Given the description of an element on the screen output the (x, y) to click on. 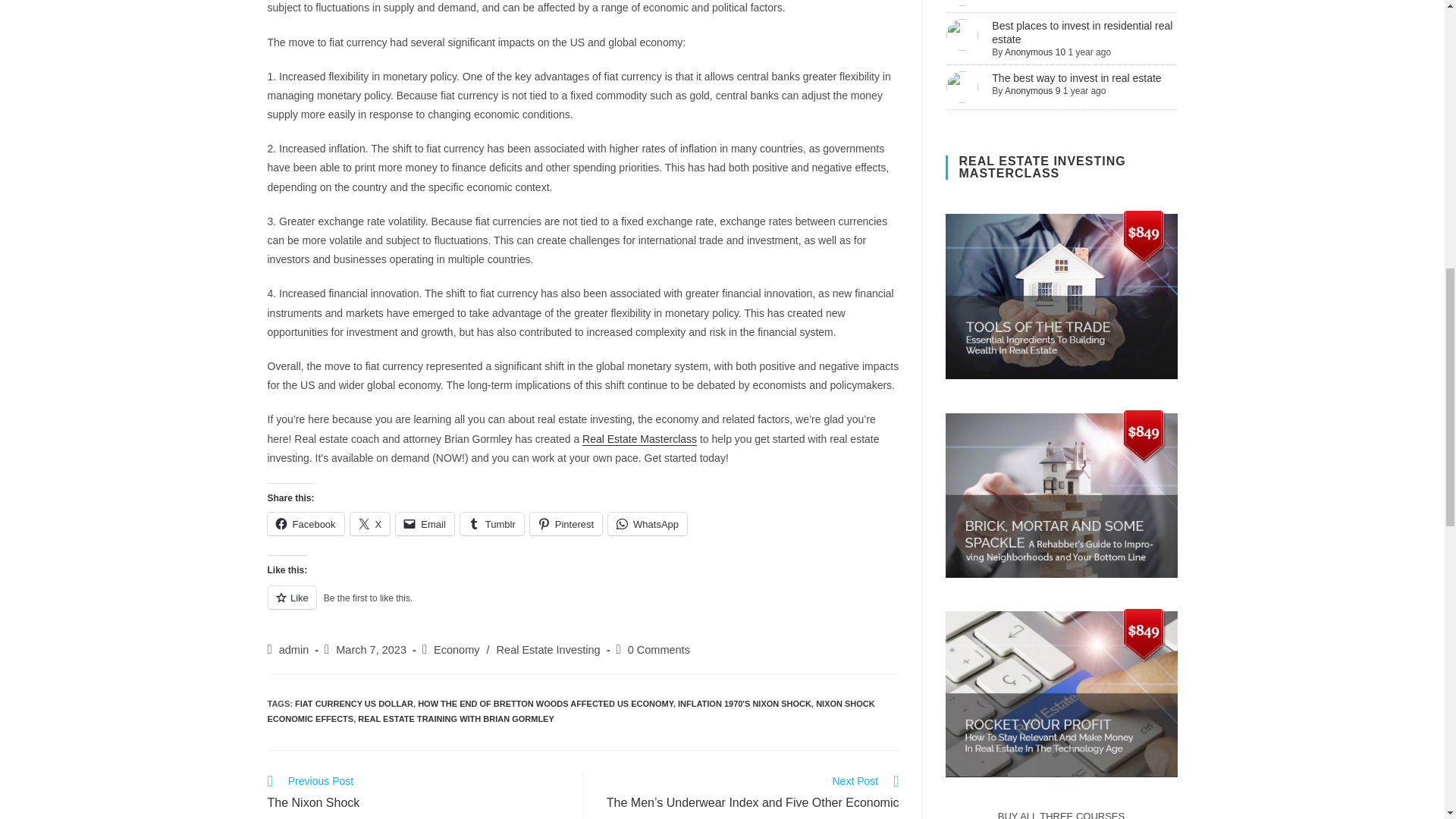
Click to share on Tumblr (492, 523)
Click to share on Pinterest (565, 523)
Click to share on Facebook (304, 523)
Click to email a link to a friend (425, 523)
Like or Reblog (582, 606)
Click to share on X (370, 523)
Facebook (304, 523)
WhatsApp (647, 523)
Tumblr (492, 523)
Best places to invest in residential real estate (1081, 32)
Email (425, 523)
Real Estate Masterclass (639, 438)
Posts by admin (293, 649)
Pinterest (565, 523)
Click to share on WhatsApp (647, 523)
